Given the description of an element on the screen output the (x, y) to click on. 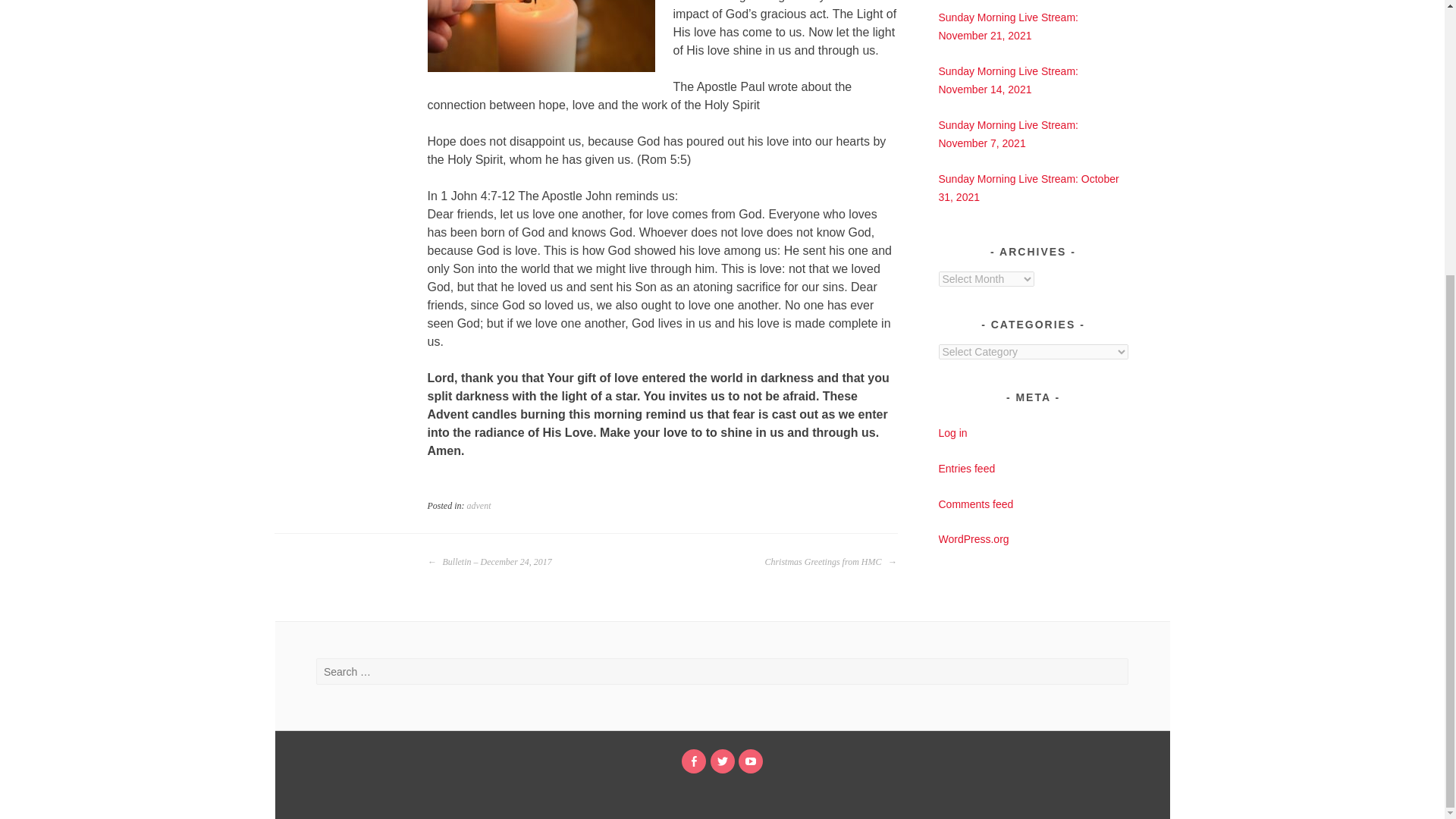
Sunday Morning Live Stream: November 21, 2021 (1008, 26)
Sunday Morning Live Stream: November 14, 2021 (1008, 80)
TWITTER (721, 761)
Sunday Morning Live Stream: November 7, 2021 (1008, 133)
Sunday Morning Live Stream: October 31, 2021 (1029, 187)
WordPress.org (974, 539)
Entries feed (967, 468)
Log in (953, 432)
advent (479, 505)
Comments feed (976, 503)
